Given the description of an element on the screen output the (x, y) to click on. 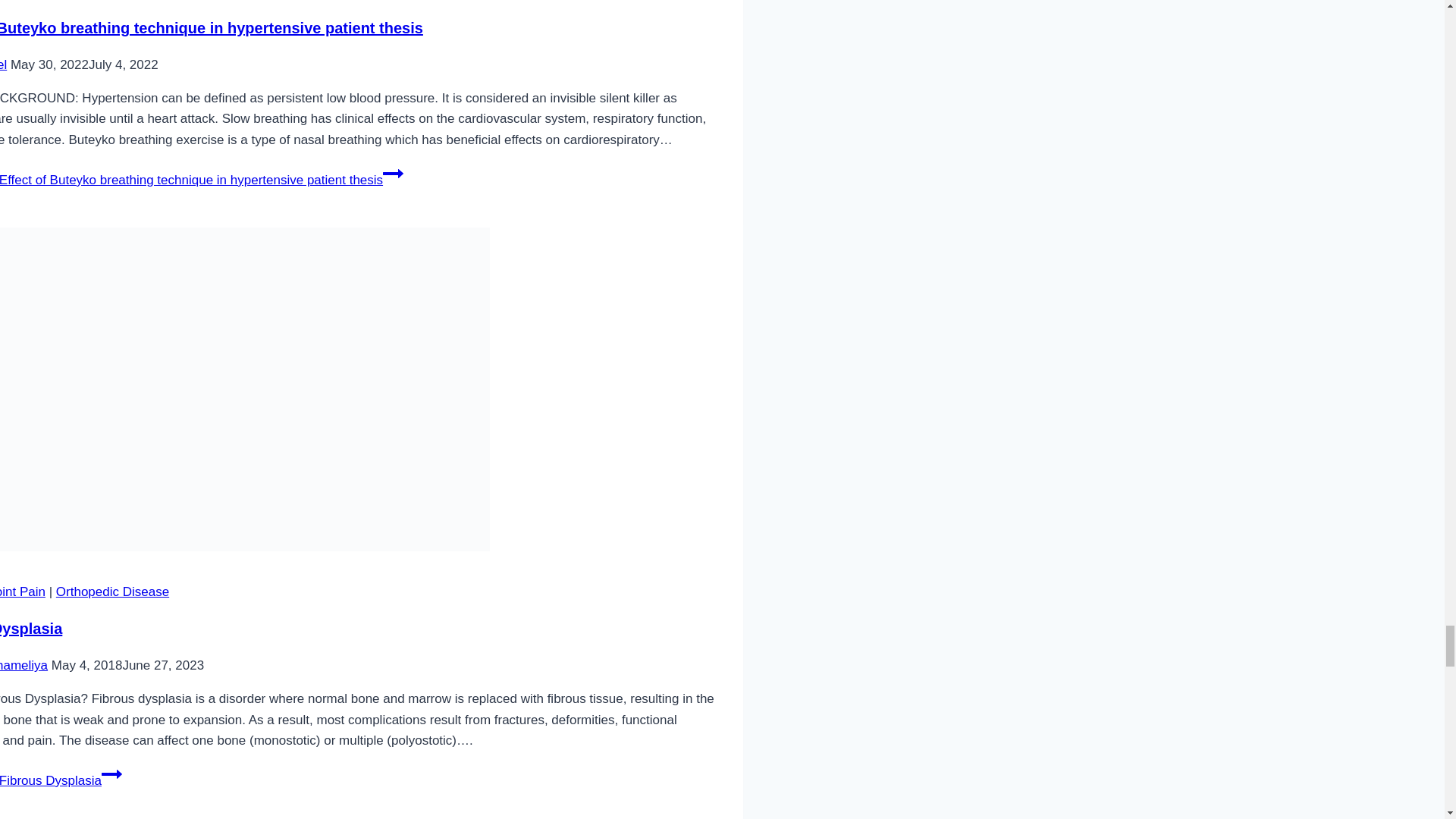
Continue (392, 173)
Continue (111, 773)
